Given the description of an element on the screen output the (x, y) to click on. 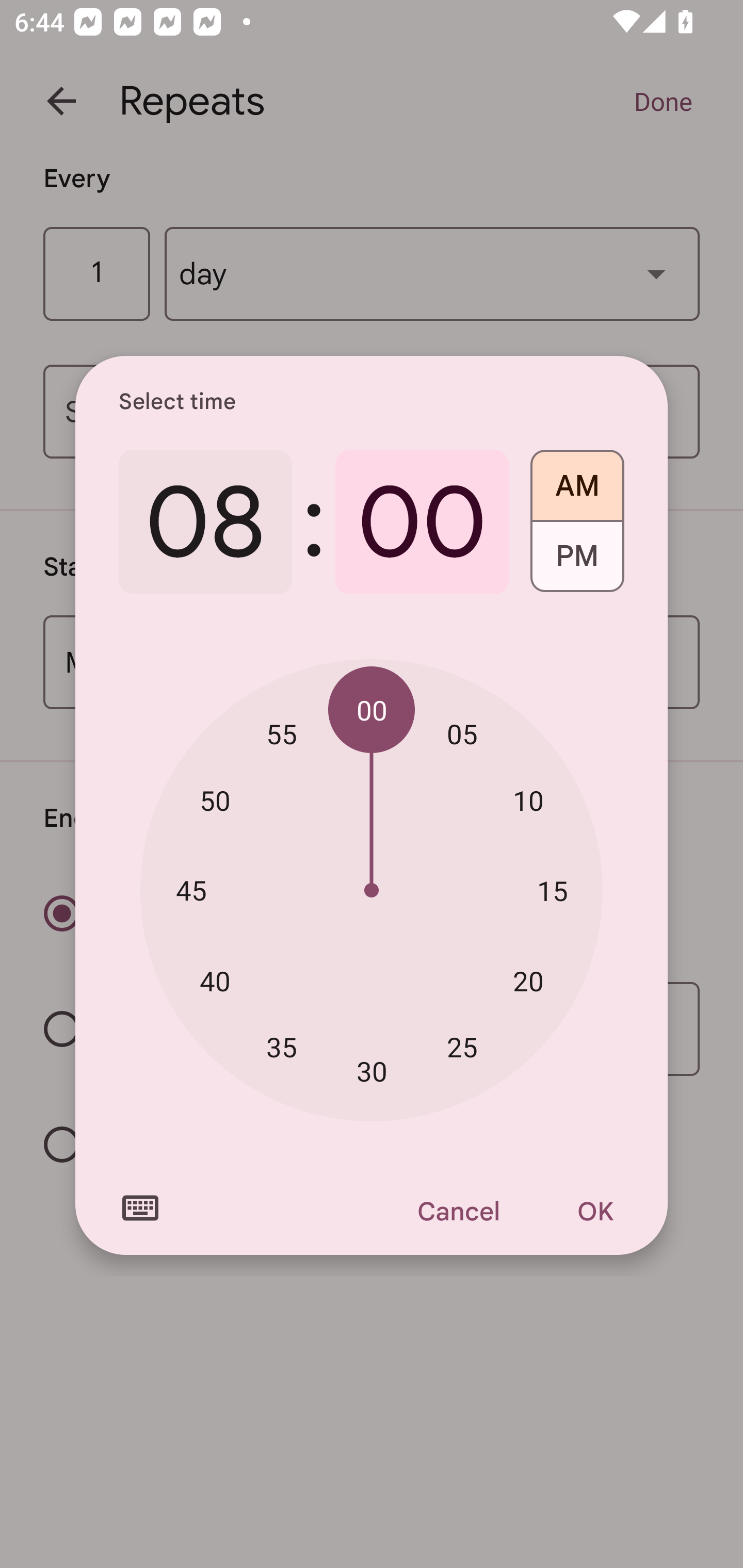
AM (577, 478)
08 8 o'clock (204, 522)
00 0 minutes (421, 522)
PM (577, 563)
00 00 minutes (371, 710)
55 55 minutes (281, 733)
05 05 minutes (462, 733)
50 50 minutes (214, 800)
10 10 minutes (528, 800)
45 45 minutes (190, 889)
15 15 minutes (551, 890)
40 40 minutes (214, 980)
20 20 minutes (528, 980)
35 35 minutes (281, 1046)
25 25 minutes (462, 1046)
30 30 minutes (371, 1071)
Switch to text input mode for the time input. (140, 1208)
Cancel (458, 1211)
OK (595, 1211)
